Given the description of an element on the screen output the (x, y) to click on. 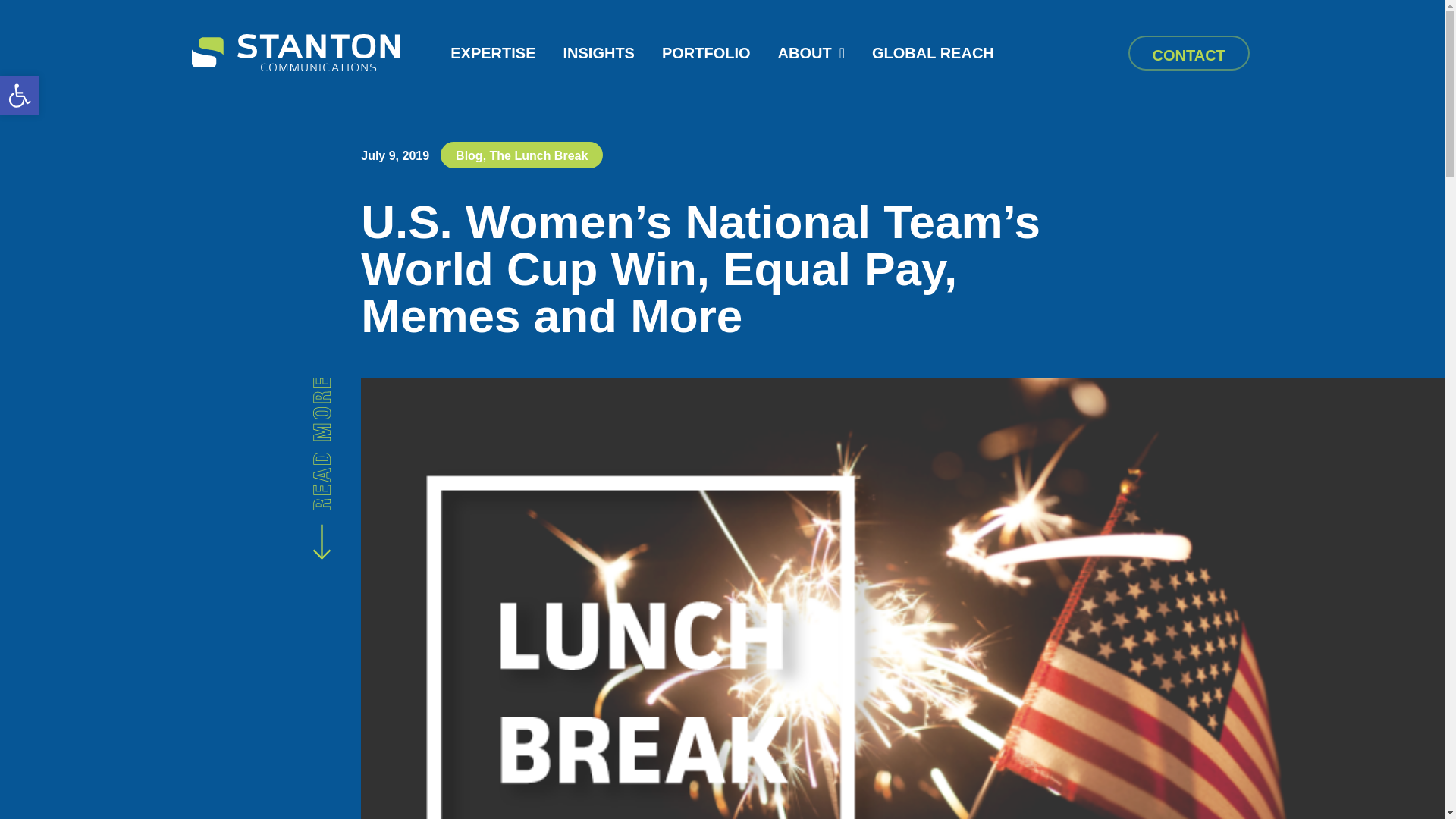
CONTACT (1188, 53)
INSIGHTS (597, 52)
Accessibility Tools (19, 95)
EXPERTISE (492, 52)
Accessibility Tools (19, 95)
ABOUT (810, 52)
PORTFOLIO (706, 52)
GLOBAL REACH (19, 95)
